Given the description of an element on the screen output the (x, y) to click on. 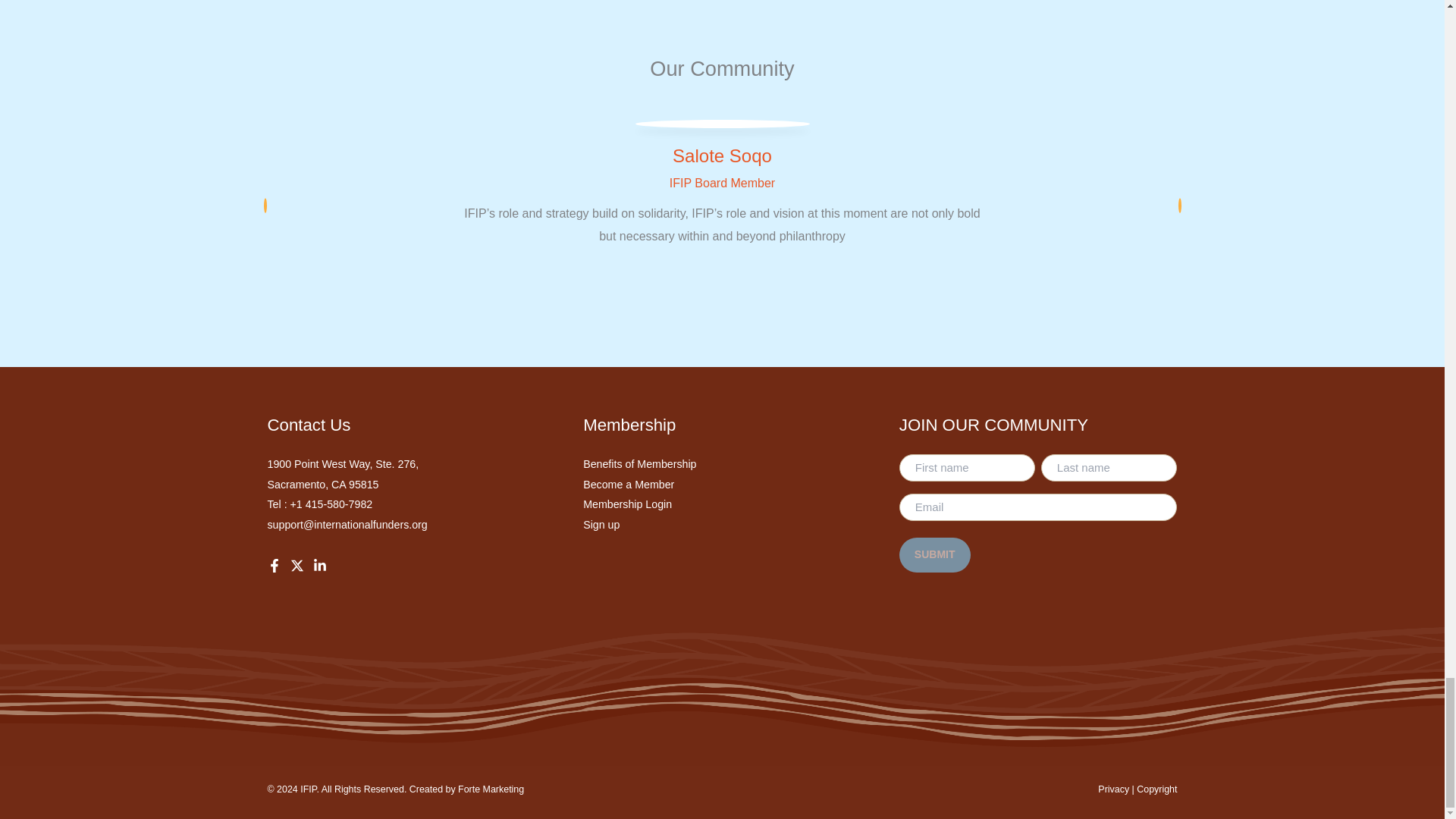
Submit (935, 554)
